Given the description of an element on the screen output the (x, y) to click on. 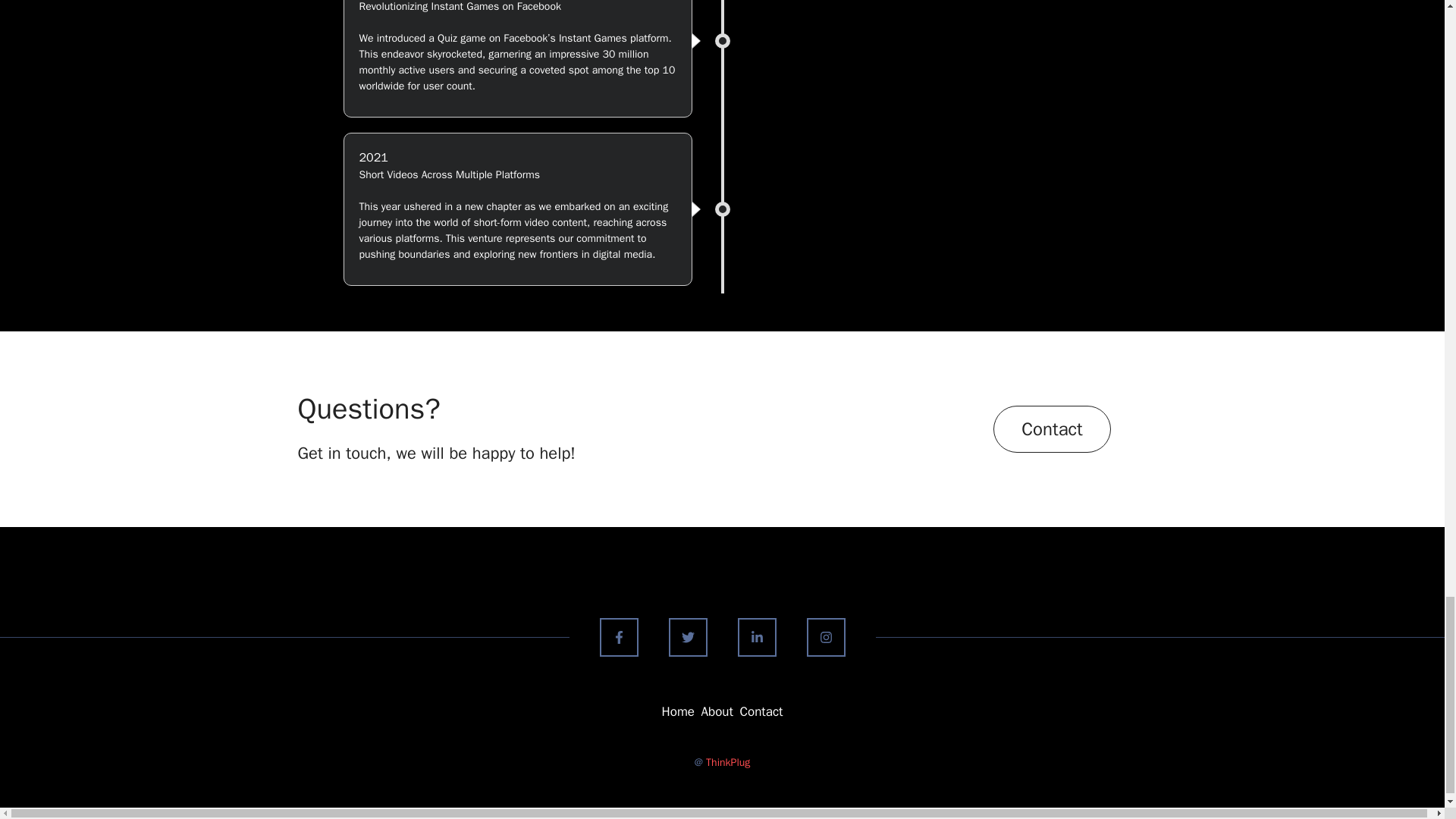
ThinkPlug (727, 762)
About (716, 711)
Home (678, 711)
Contact (1051, 428)
Contact (761, 711)
